Given the description of an element on the screen output the (x, y) to click on. 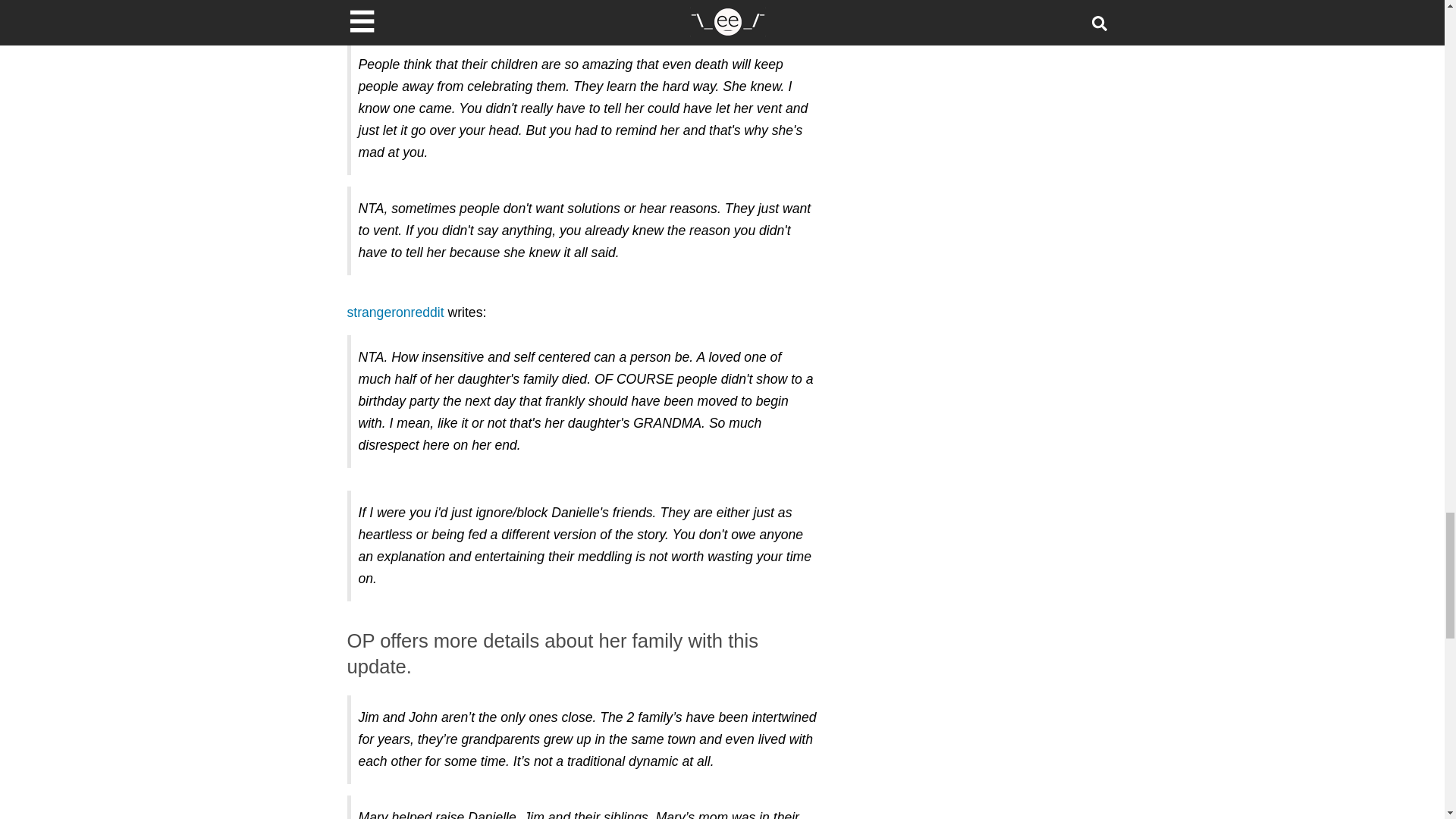
strangeronreddit (395, 312)
